Given the description of an element on the screen output the (x, y) to click on. 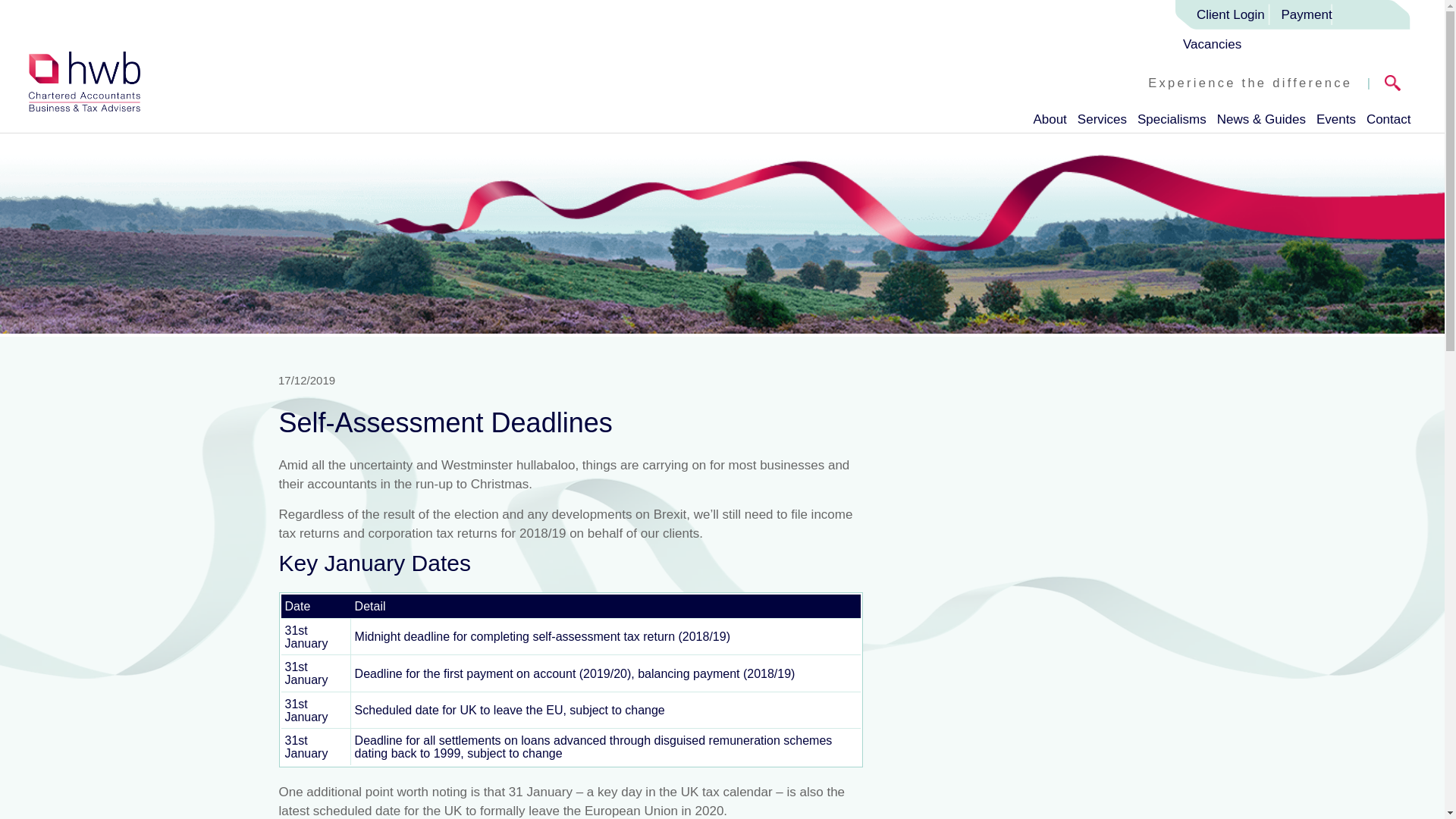
Vacancies (1215, 43)
About (1048, 116)
Services (1101, 116)
Payment (1307, 14)
Client Login (1223, 14)
Specialisms (1172, 116)
